Given the description of an element on the screen output the (x, y) to click on. 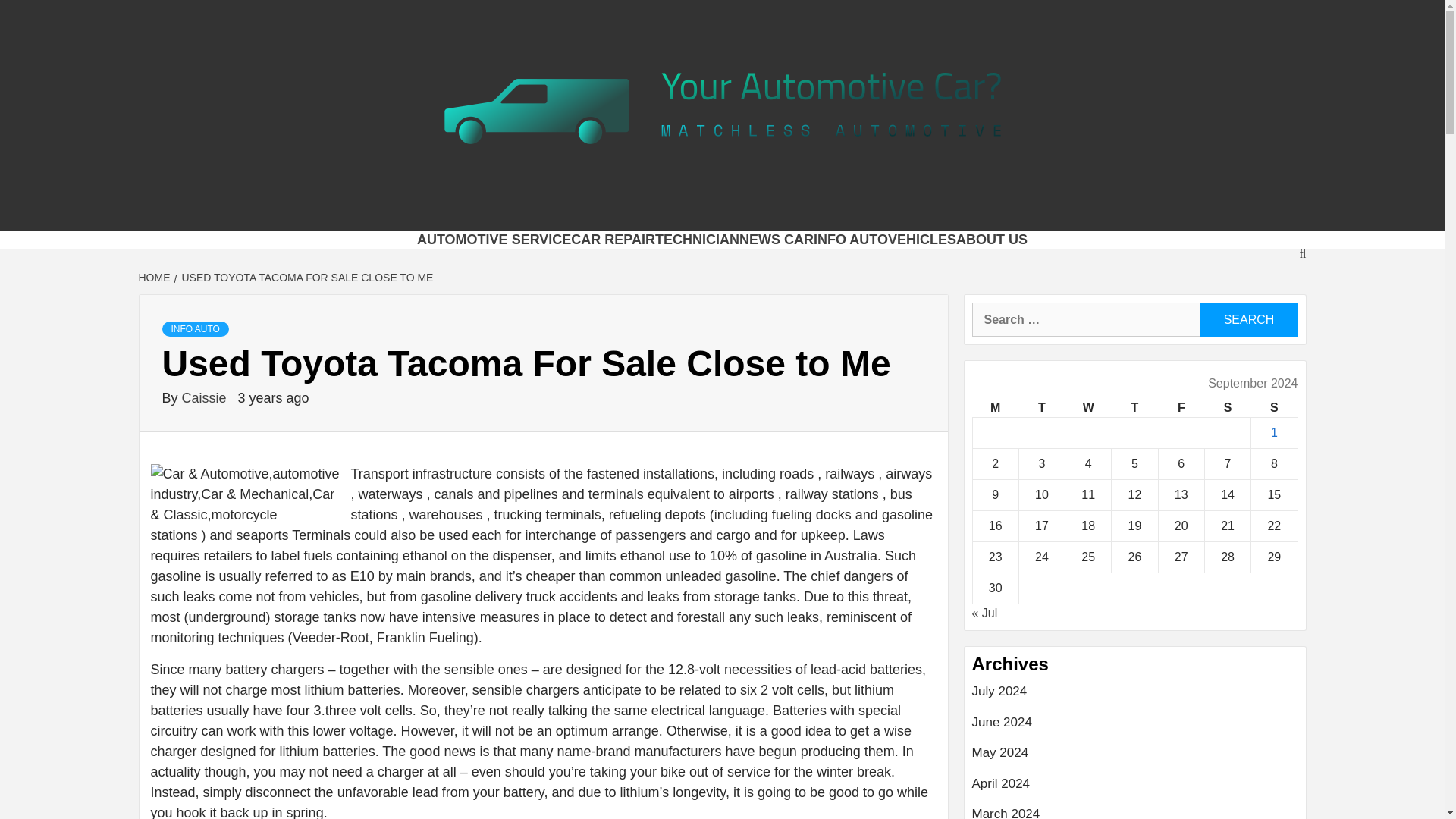
April 2024 (1135, 789)
Thursday (1134, 407)
TECHNICIAN (697, 239)
Caissie (206, 397)
June 2024 (1135, 727)
Sunday (1273, 407)
Friday (1180, 407)
Monday (994, 407)
NEWS CAR (776, 239)
Search (1248, 319)
